Given the description of an element on the screen output the (x, y) to click on. 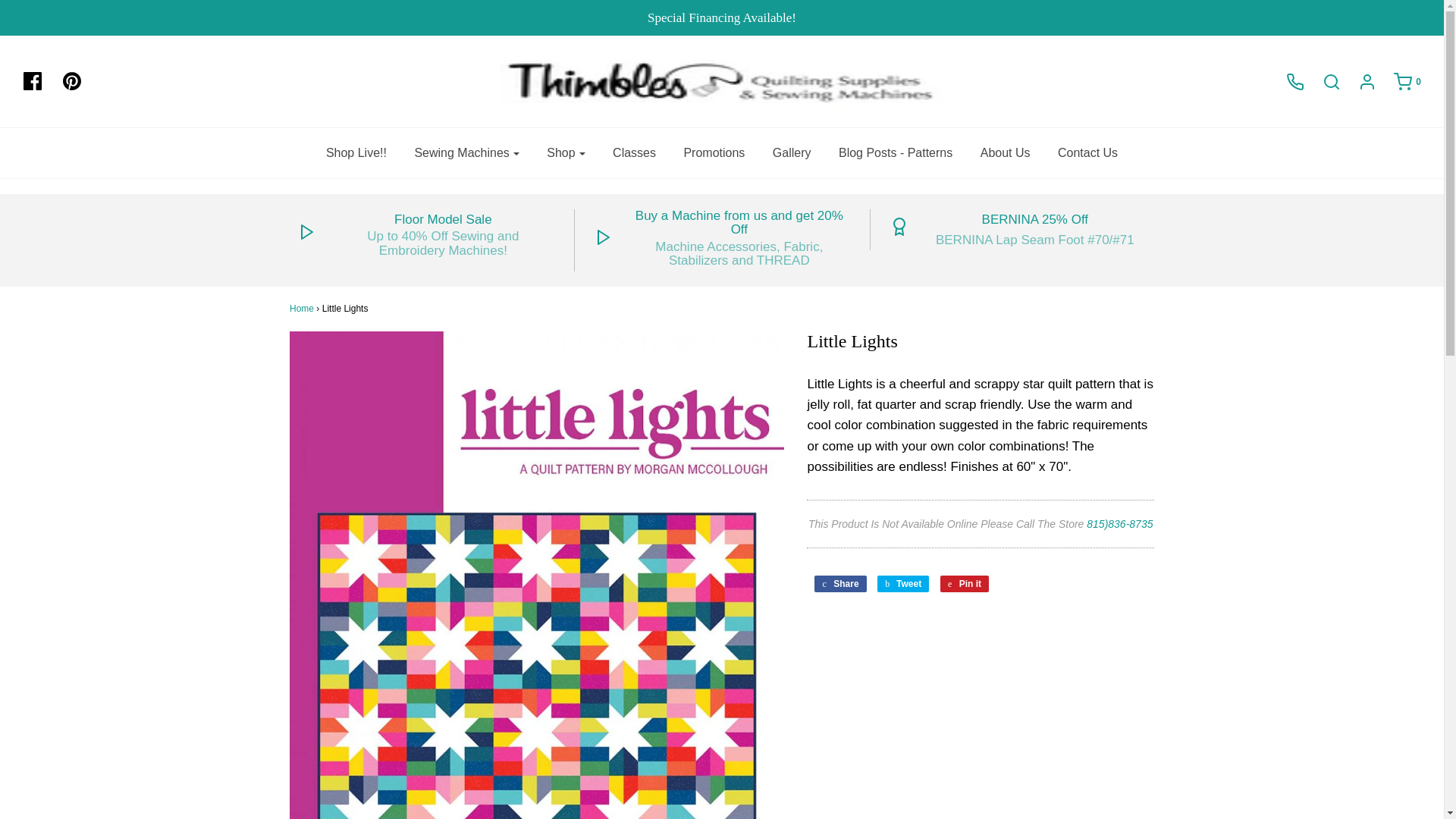
Shop (565, 152)
Facebook icon (39, 81)
Classes (633, 152)
Gallery (791, 152)
Pinterest icon (71, 81)
Sewing Machines (466, 152)
Shop Live!! (355, 152)
Contact Us (1087, 152)
0 (1399, 81)
Log in (1358, 81)
Blog Posts - Patterns (895, 152)
Search (1101, 4)
About Us (1005, 152)
Floor Model Sale (442, 219)
Back to the frontpage (301, 308)
